Given the description of an element on the screen output the (x, y) to click on. 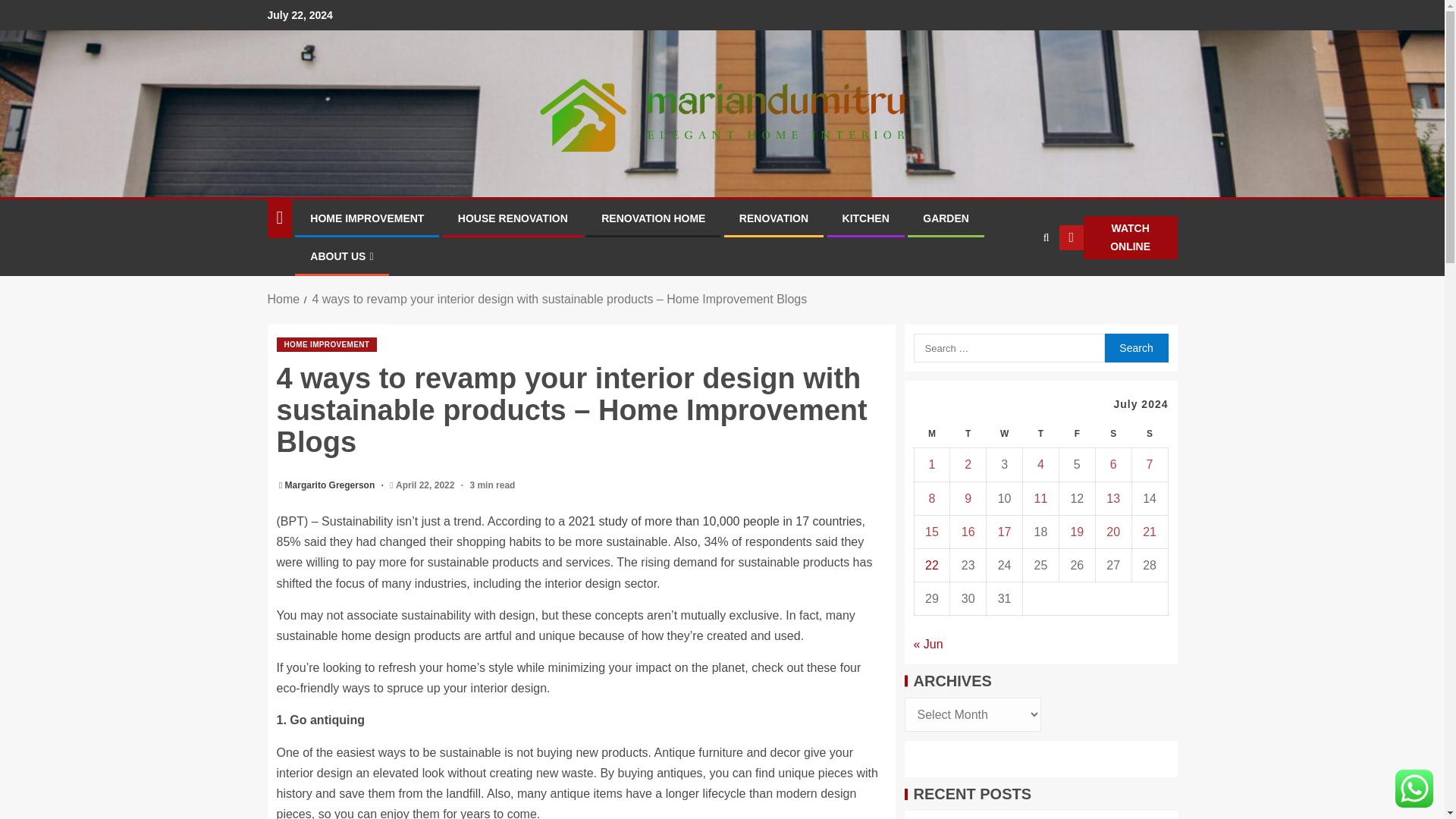
RENOVATION (773, 218)
RENOVATION HOME (652, 218)
Home (282, 298)
HOME IMPROVEMENT (366, 218)
Monday (932, 433)
Search (1135, 347)
GARDEN (946, 218)
Tuesday (968, 433)
Search (1135, 347)
HOME IMPROVEMENT (326, 344)
ABOUT US (341, 256)
HOUSE RENOVATION (512, 218)
Friday (1076, 433)
Thursday (1041, 433)
Margarito Gregerson (331, 484)
